Given the description of an element on the screen output the (x, y) to click on. 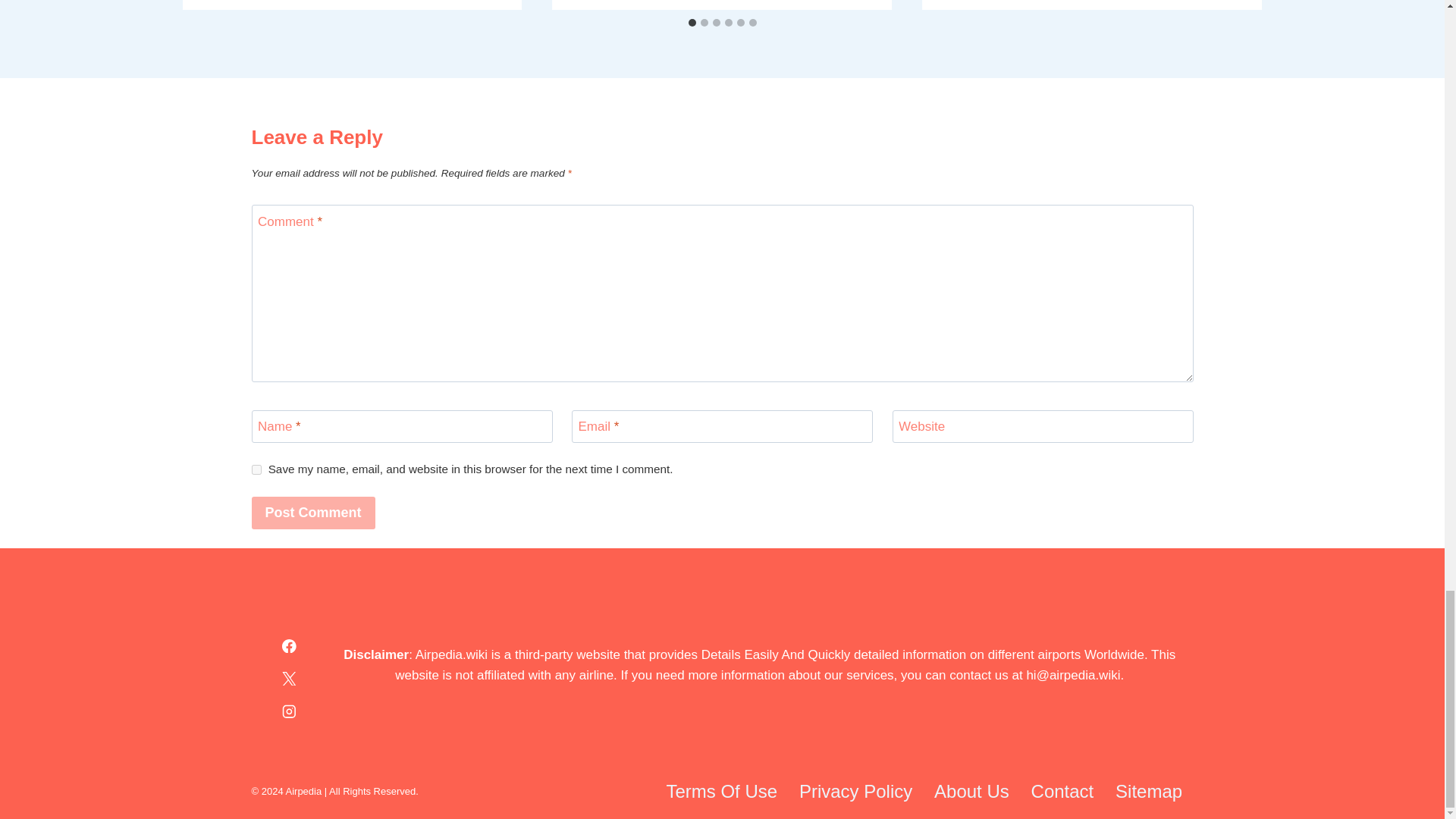
Post Comment (313, 512)
yes (256, 470)
